Given the description of an element on the screen output the (x, y) to click on. 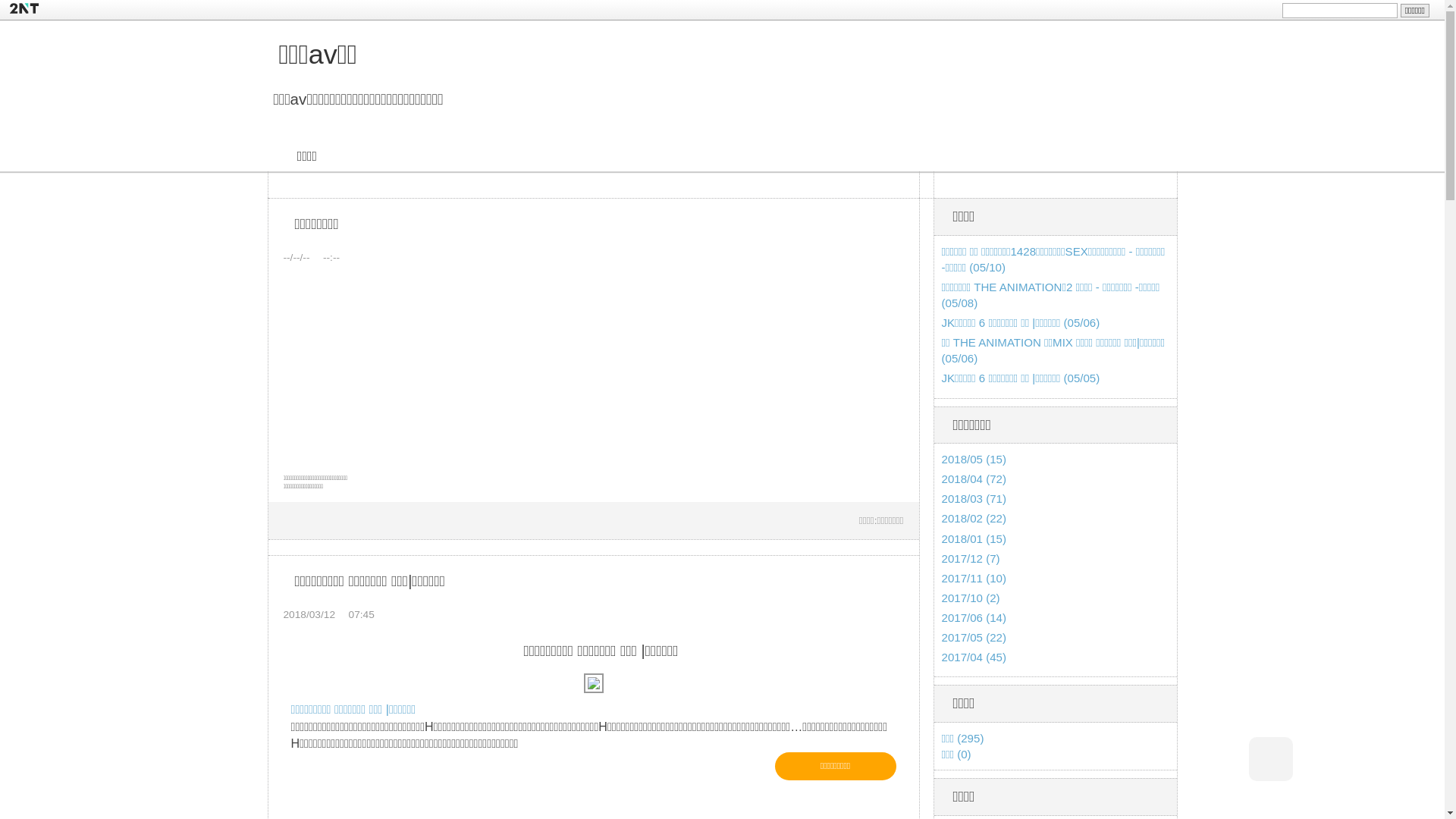
2017/12 (7) Element type: text (970, 558)
2018/02 (22) Element type: text (974, 517)
2017/04 (45) Element type: text (974, 656)
2017/05 (22) Element type: text (974, 636)
2018/04 (72) Element type: text (974, 478)
2017/06 (14) Element type: text (974, 617)
2017/11 (10) Element type: text (974, 577)
2018/05 (15) Element type: text (974, 458)
2018/03 (71) Element type: text (974, 498)
2018/01 (15) Element type: text (974, 538)
2017/10 (2) Element type: text (970, 597)
